Given the description of an element on the screen output the (x, y) to click on. 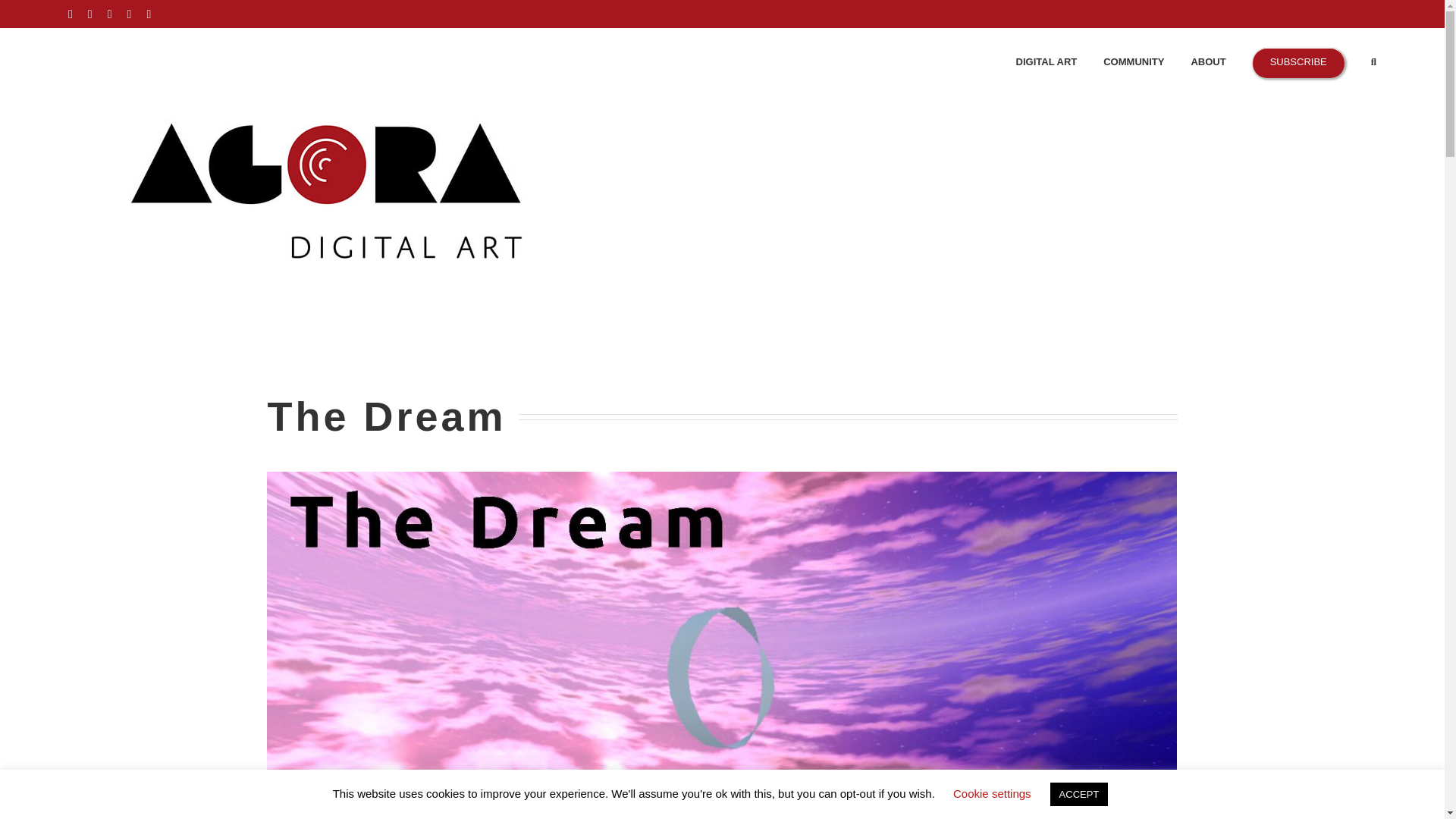
SUBSCRIBE (1297, 60)
DIGITAL ART (1046, 60)
COMMUNITY (1133, 60)
